Given the description of an element on the screen output the (x, y) to click on. 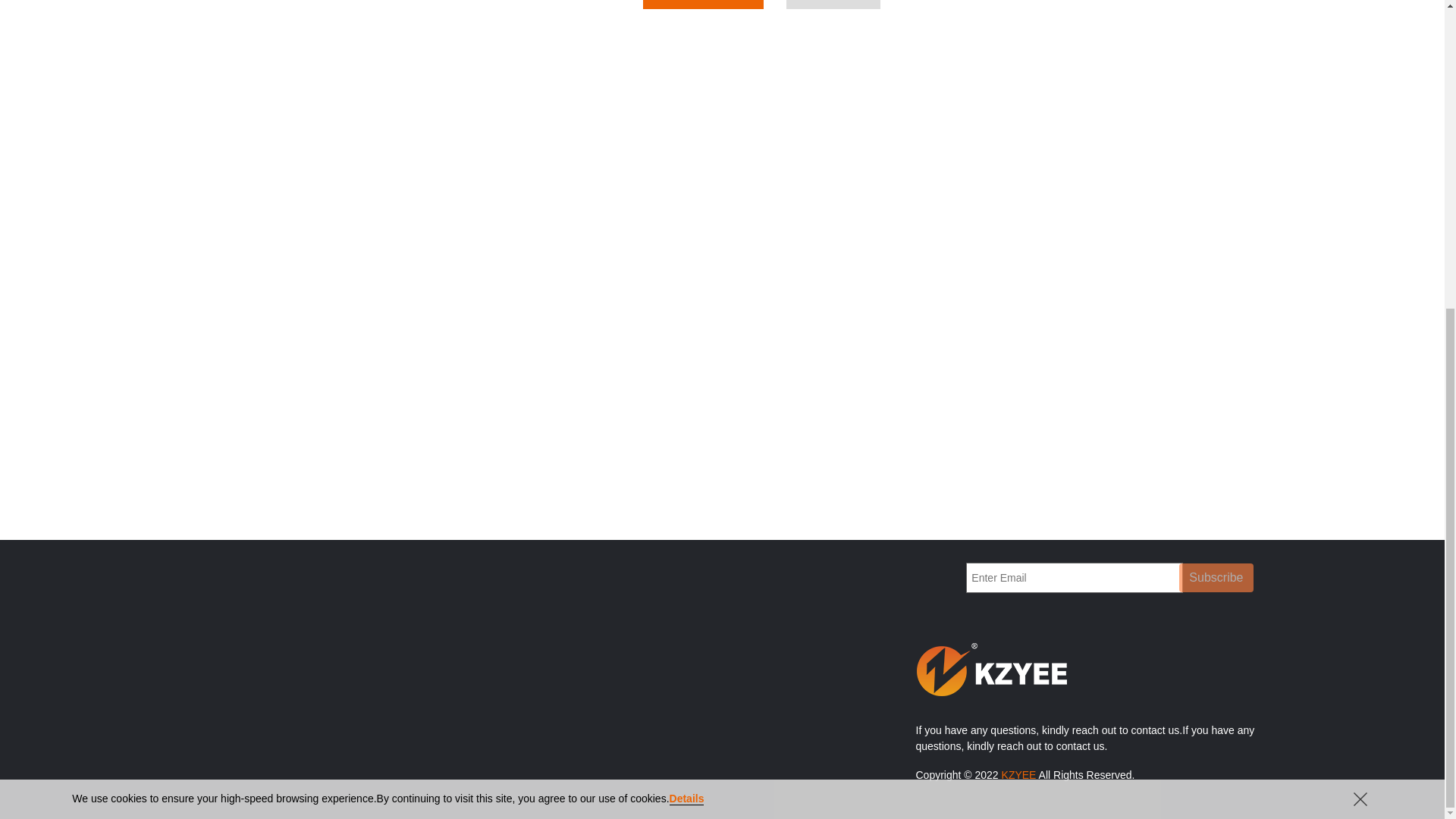
Details (686, 309)
details (686, 309)
KZYEE (1018, 775)
Subscribe (1215, 577)
